Given the description of an element on the screen output the (x, y) to click on. 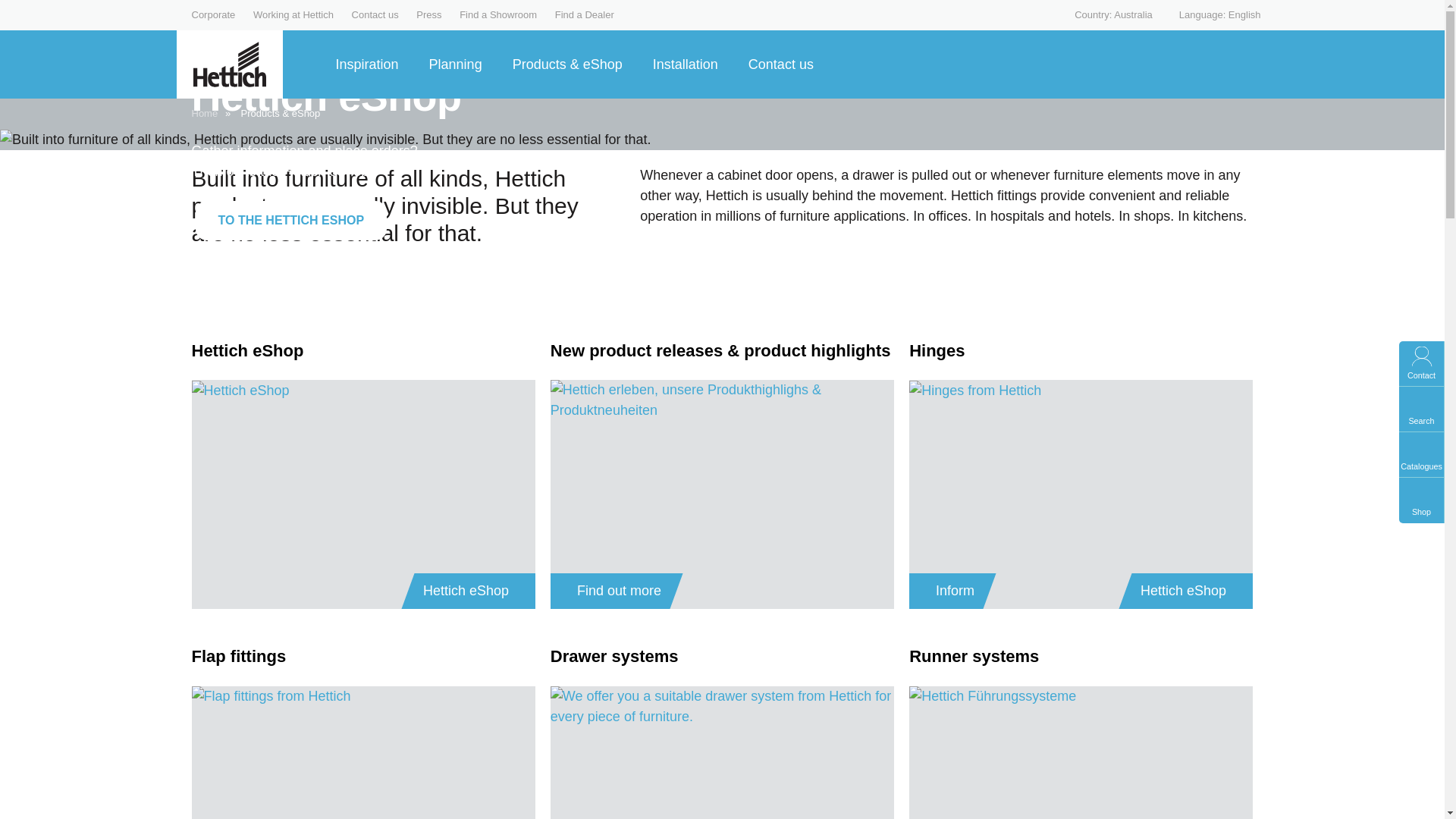
Inspiration (371, 64)
Press (428, 14)
Find a Dealer (584, 14)
Country: Australia (1104, 14)
Find a Showroom (498, 14)
Contact us (375, 14)
Working at Hettich (293, 14)
Corporate (212, 14)
